Given the description of an element on the screen output the (x, y) to click on. 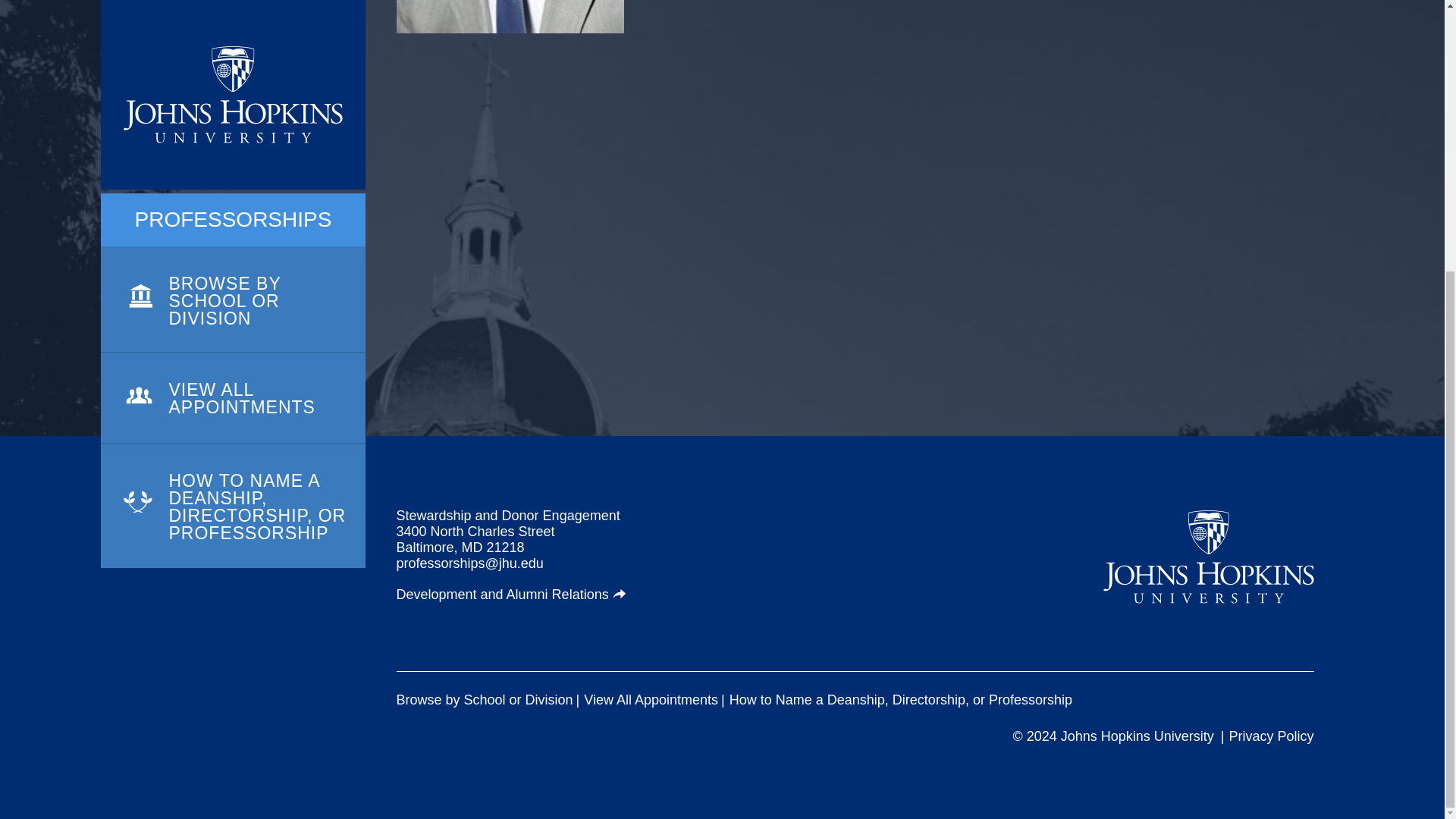
Privacy Policy (1270, 735)
VIEW ALL APPOINTMENTS (232, 22)
Browse by School or Division (484, 699)
HOW TO NAME A DEANSHIP, DIRECTORSHIP, OR PROFESSORSHIP (232, 107)
How to Name a Deanship, Directorship, or Professorship (900, 699)
View All Appointments (650, 699)
Development and Alumni Relations (511, 594)
JHU Professorships (1208, 556)
